Given the description of an element on the screen output the (x, y) to click on. 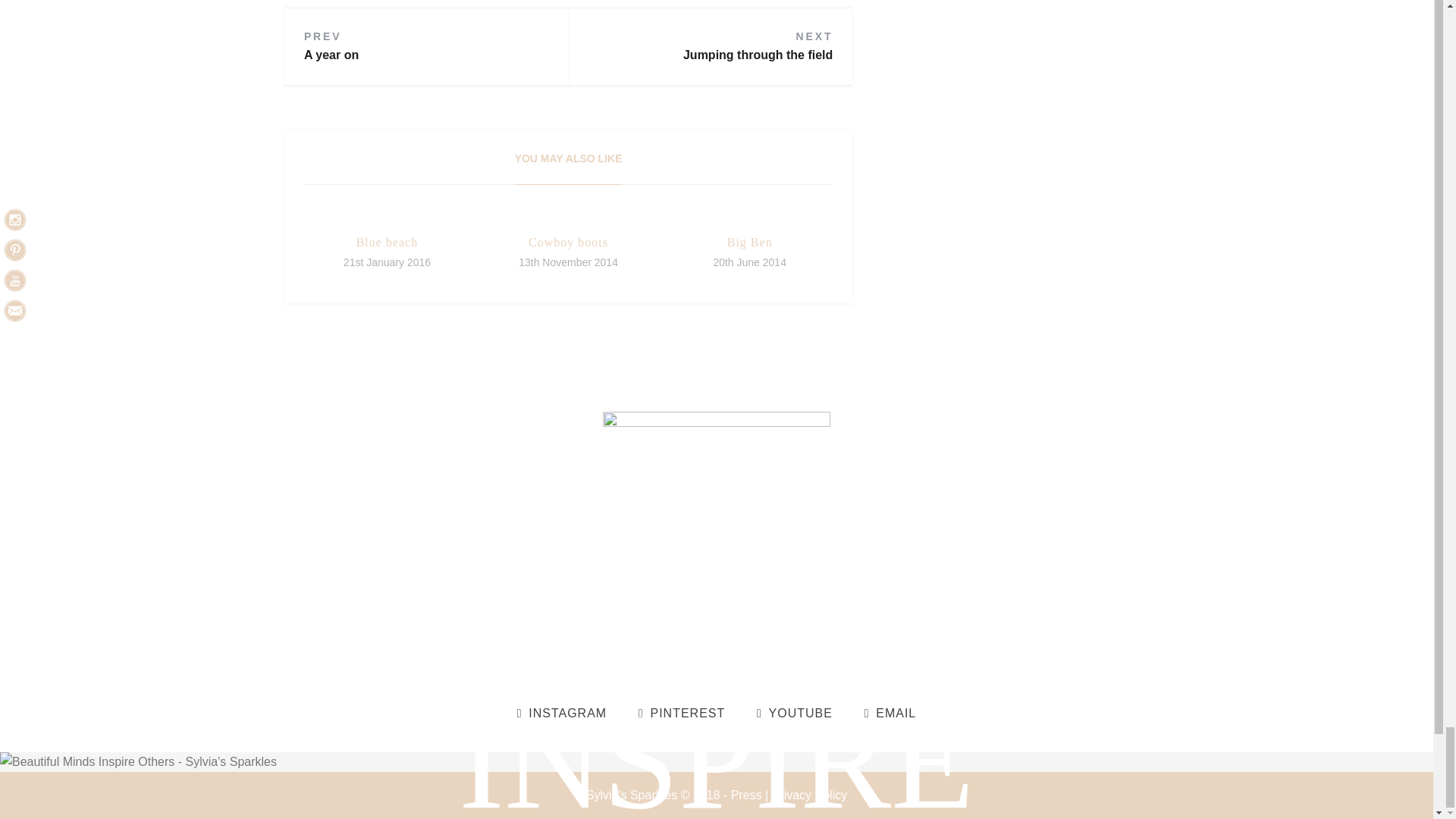
Click here for my Press page (745, 794)
Cowboy boots (568, 241)
Click here for my Privacy Policy page (809, 794)
Blue beach (387, 241)
Big Ben (749, 241)
SS Circular Logo (715, 525)
